Given the description of an element on the screen output the (x, y) to click on. 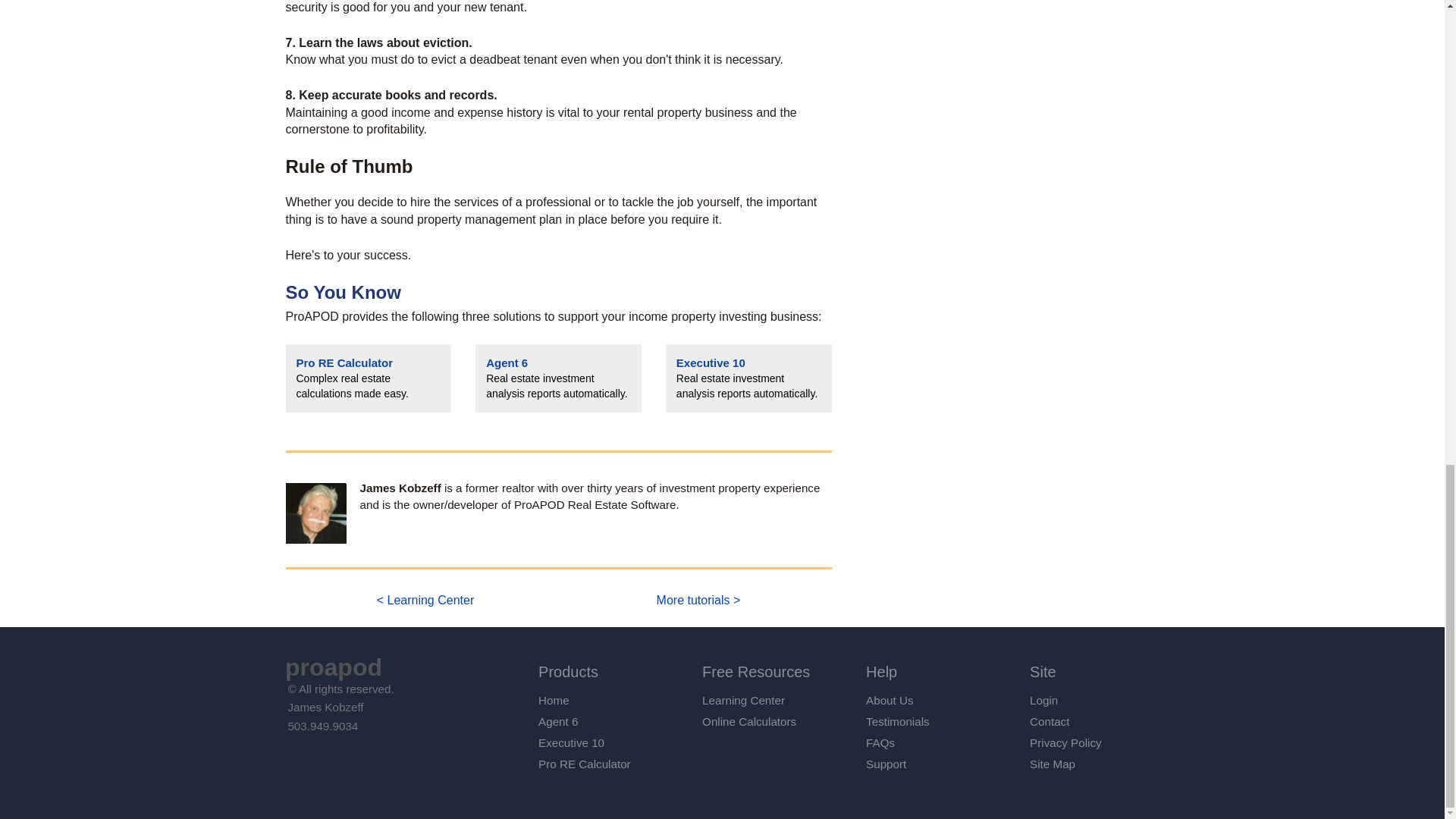
investment software (711, 362)
Agent 6 (558, 721)
investing software (506, 362)
Agent 6 (506, 362)
About Us (889, 699)
Learning Center (742, 699)
Testimonials (898, 721)
Online Calculators (748, 721)
Support (885, 763)
Pro RE Calculator (344, 362)
